Given the description of an element on the screen output the (x, y) to click on. 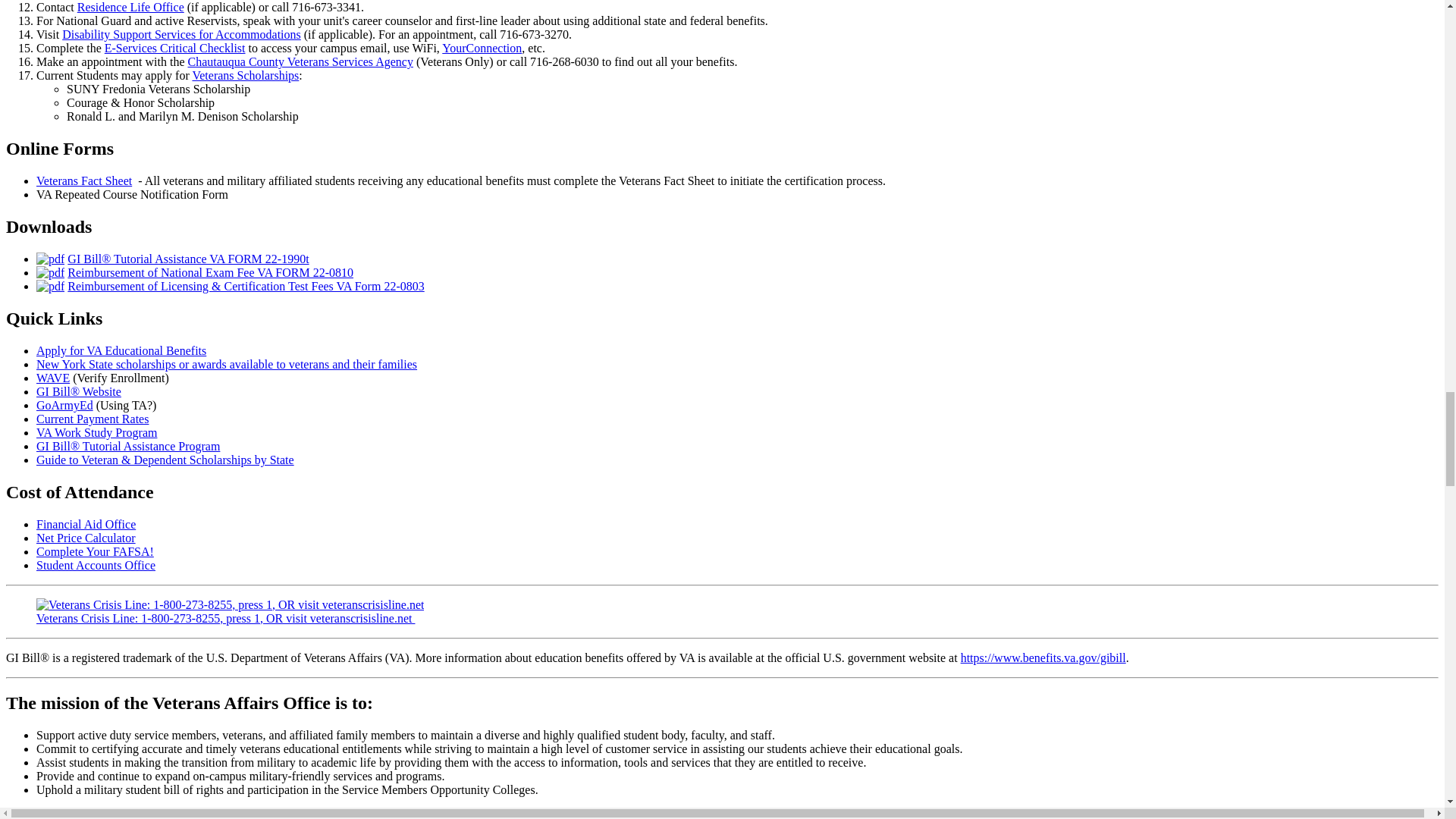
Fredonia Veterans Fact Sheet (84, 180)
goarmyed (64, 404)
GIBILL WEBSITE (78, 391)
wave (52, 377)
221990t (187, 258)
National Test (209, 272)
Residence Life (130, 6)
22-1990t (50, 258)
National Test (50, 272)
VA Work Study (96, 431)
